Given the description of an element on the screen output the (x, y) to click on. 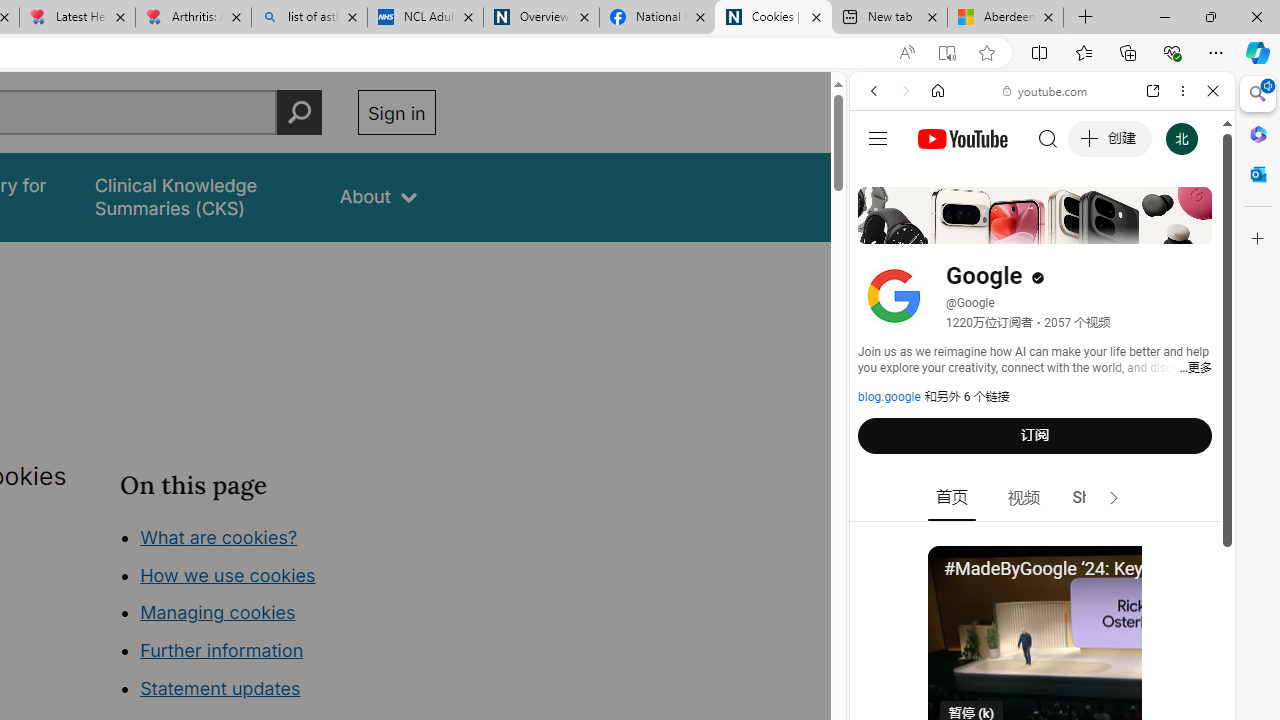
How we use cookies (227, 574)
youtube.com (1046, 90)
blog.google (889, 397)
